Given the description of an element on the screen output the (x, y) to click on. 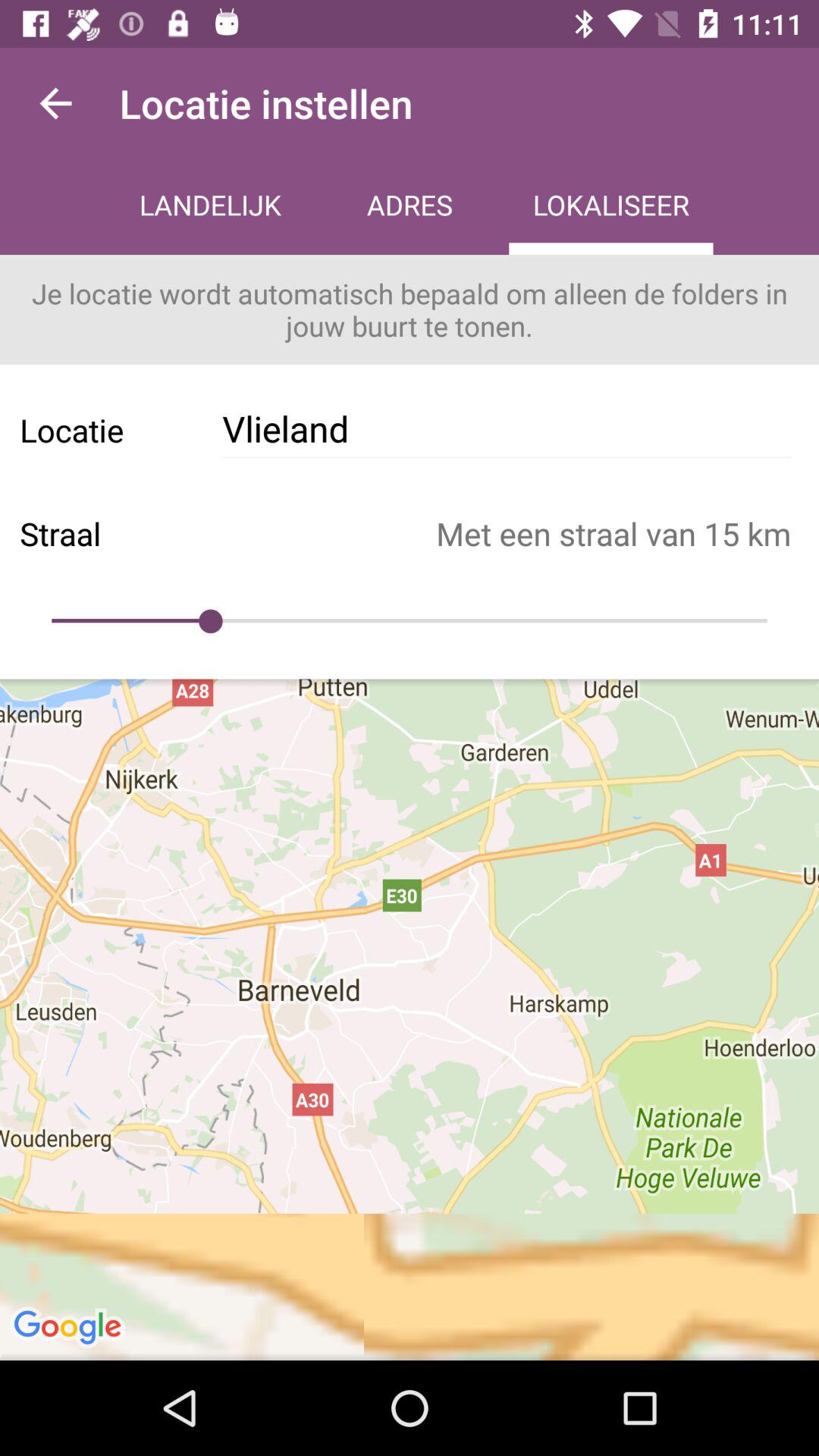
swipe until lokaliseer (611, 206)
